Given the description of an element on the screen output the (x, y) to click on. 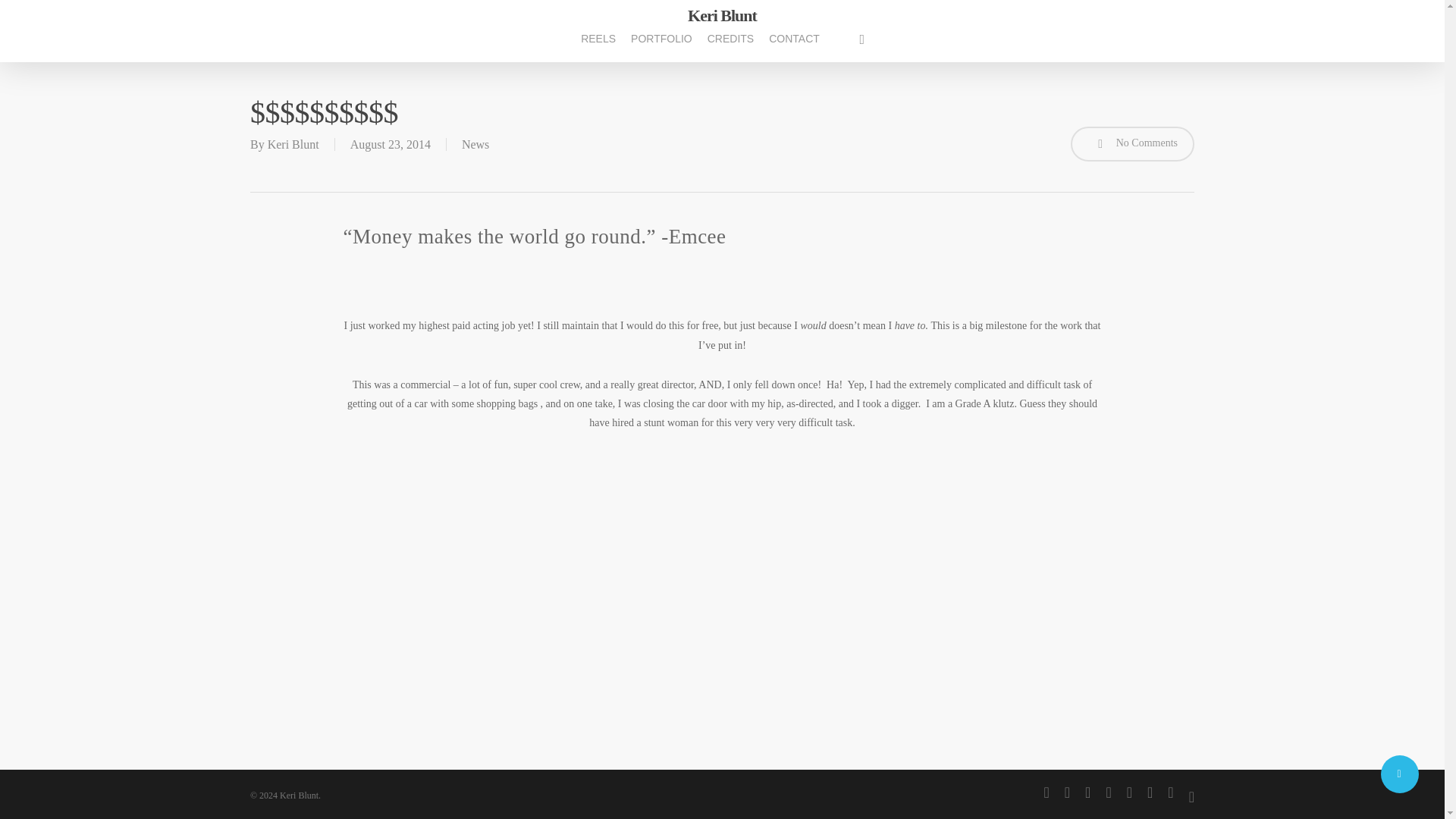
News (475, 144)
No Comments (1131, 143)
REELS (598, 46)
CONTACT (794, 46)
Keri Blunt (292, 144)
PORTFOLIO (661, 46)
Keri Blunt (722, 15)
Posts by Keri Blunt (292, 144)
CREDITS (730, 46)
search (861, 38)
